Given the description of an element on the screen output the (x, y) to click on. 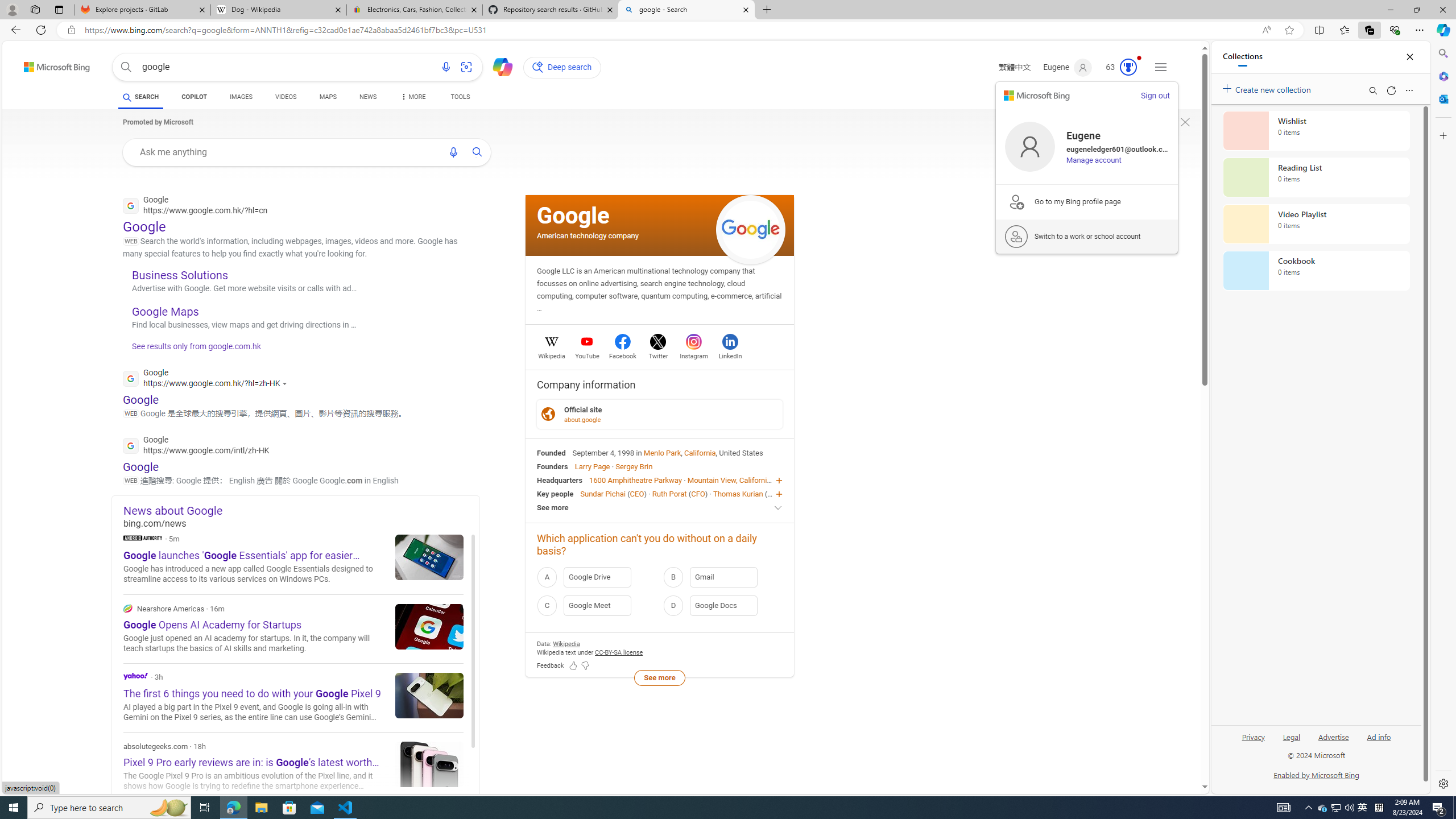
Official Site Official site about.google (659, 413)
1600 Amphitheatre Parkway (635, 479)
Yahoo (135, 675)
See more images of Google (751, 228)
Nearshore Americas (127, 608)
California (700, 452)
MAPS (327, 98)
Actions for this site (286, 383)
Search using voice (452, 151)
SEARCH (140, 96)
